Given the description of an element on the screen output the (x, y) to click on. 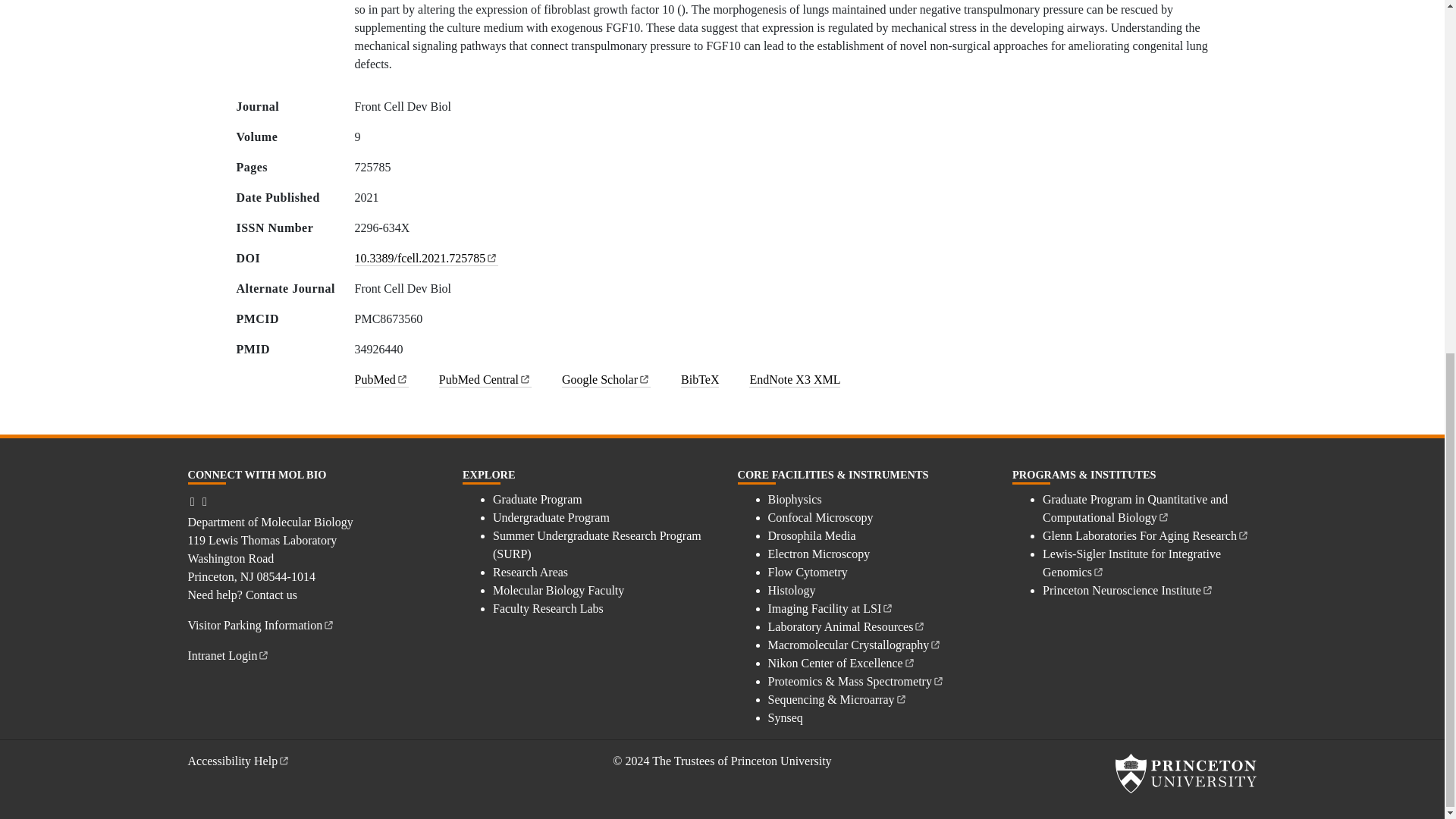
Link is external (491, 256)
Link is external (525, 377)
Link is external (401, 377)
Link is external (643, 377)
